Given the description of an element on the screen output the (x, y) to click on. 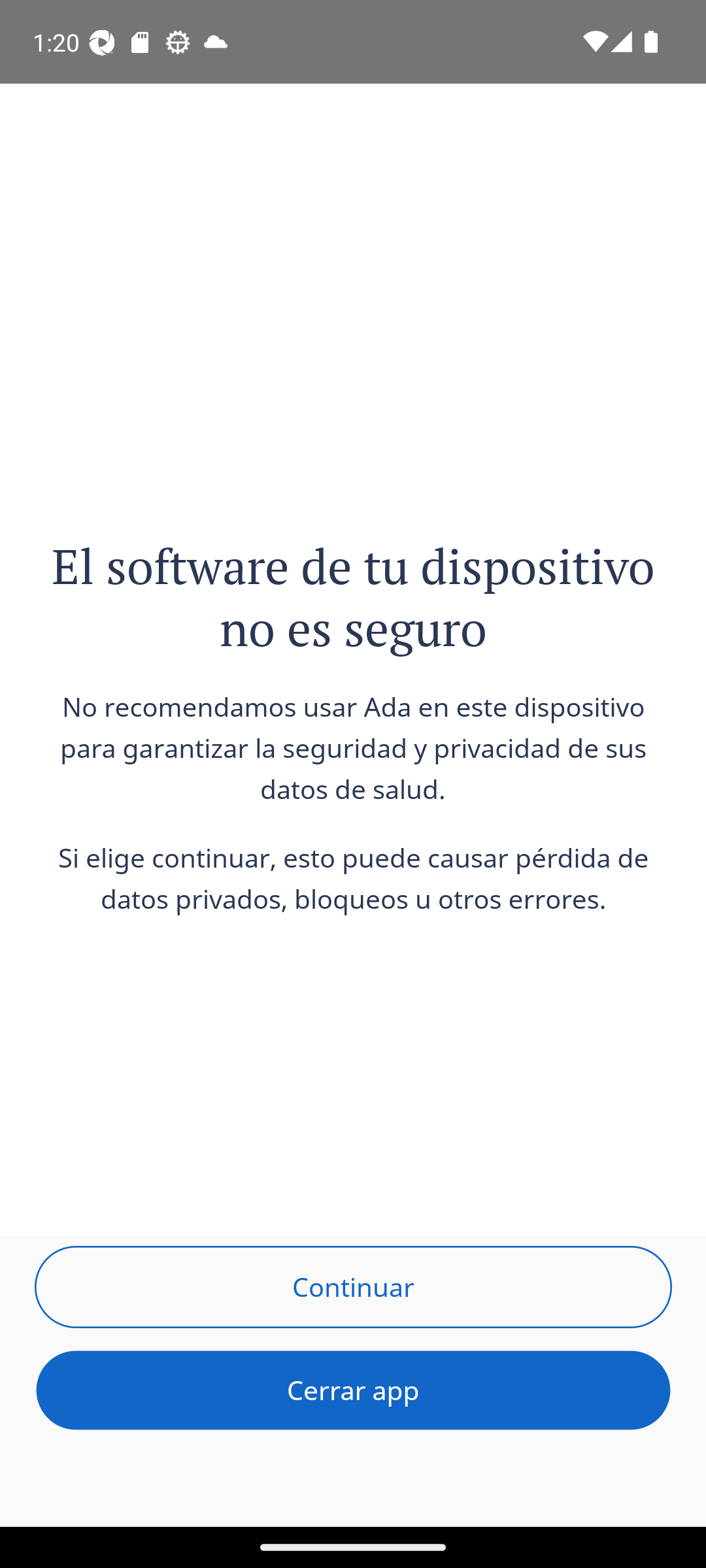
Continuar (353, 1286)
Cerrar app (353, 1390)
